Given the description of an element on the screen output the (x, y) to click on. 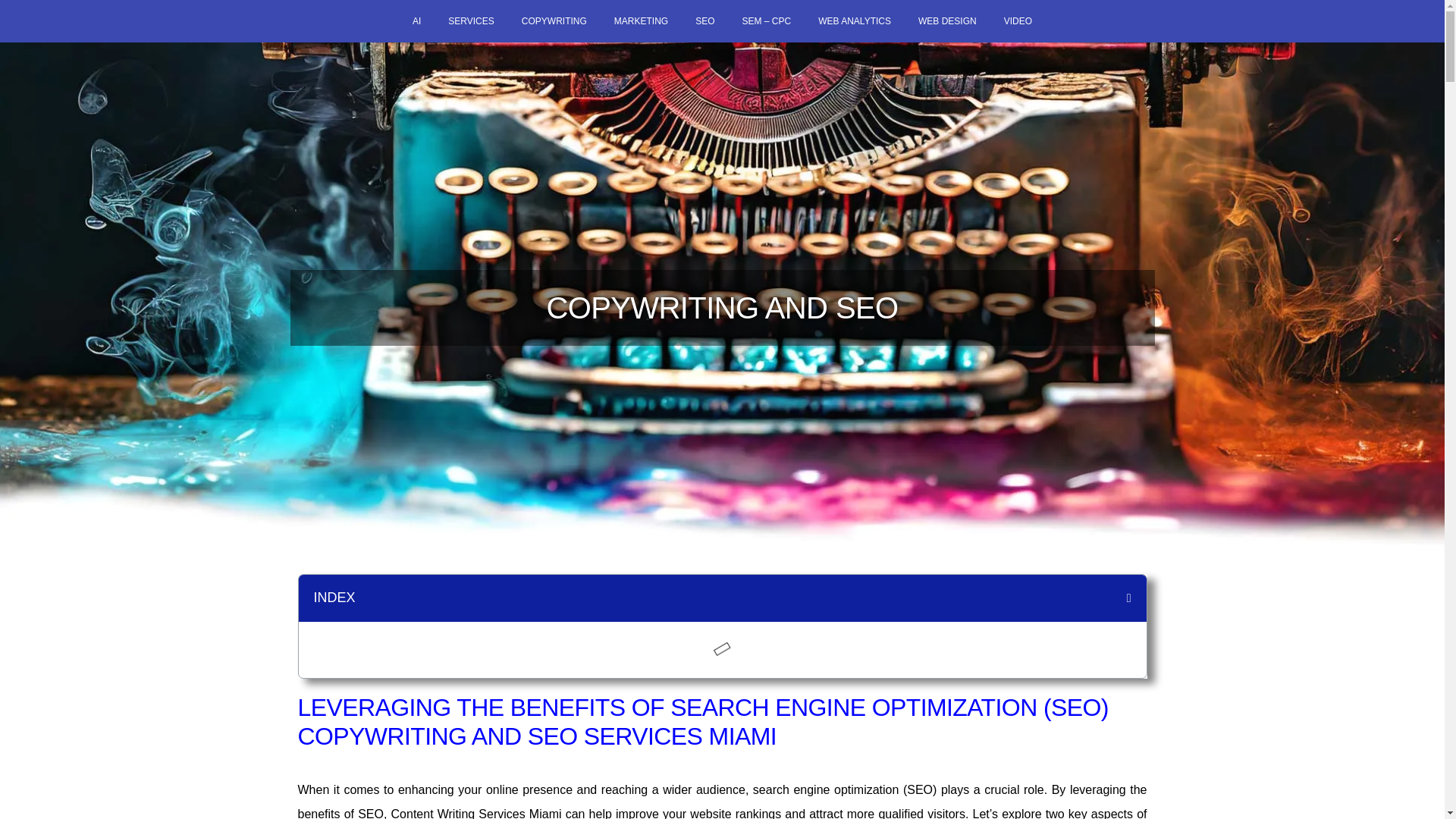
WEB DESIGN (947, 21)
MARKETING (640, 21)
SERVICES (469, 21)
SEO (704, 21)
COPYWRITING (553, 21)
VIDEO (1017, 21)
WEB ANALYTICS (854, 21)
